Given the description of an element on the screen output the (x, y) to click on. 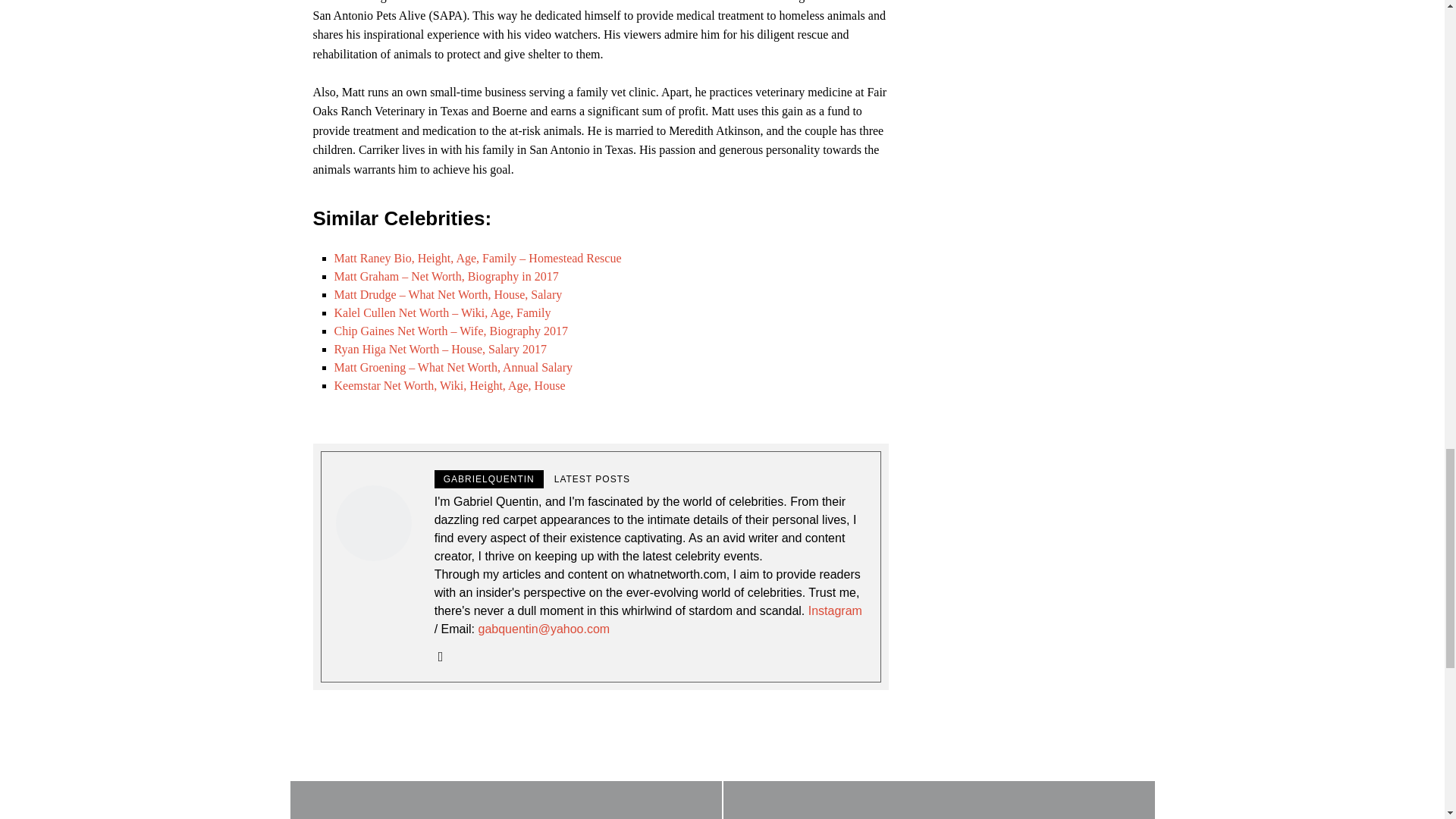
Keemstar Net Worth, Wiki, Height, Age, House (448, 385)
